Given the description of an element on the screen output the (x, y) to click on. 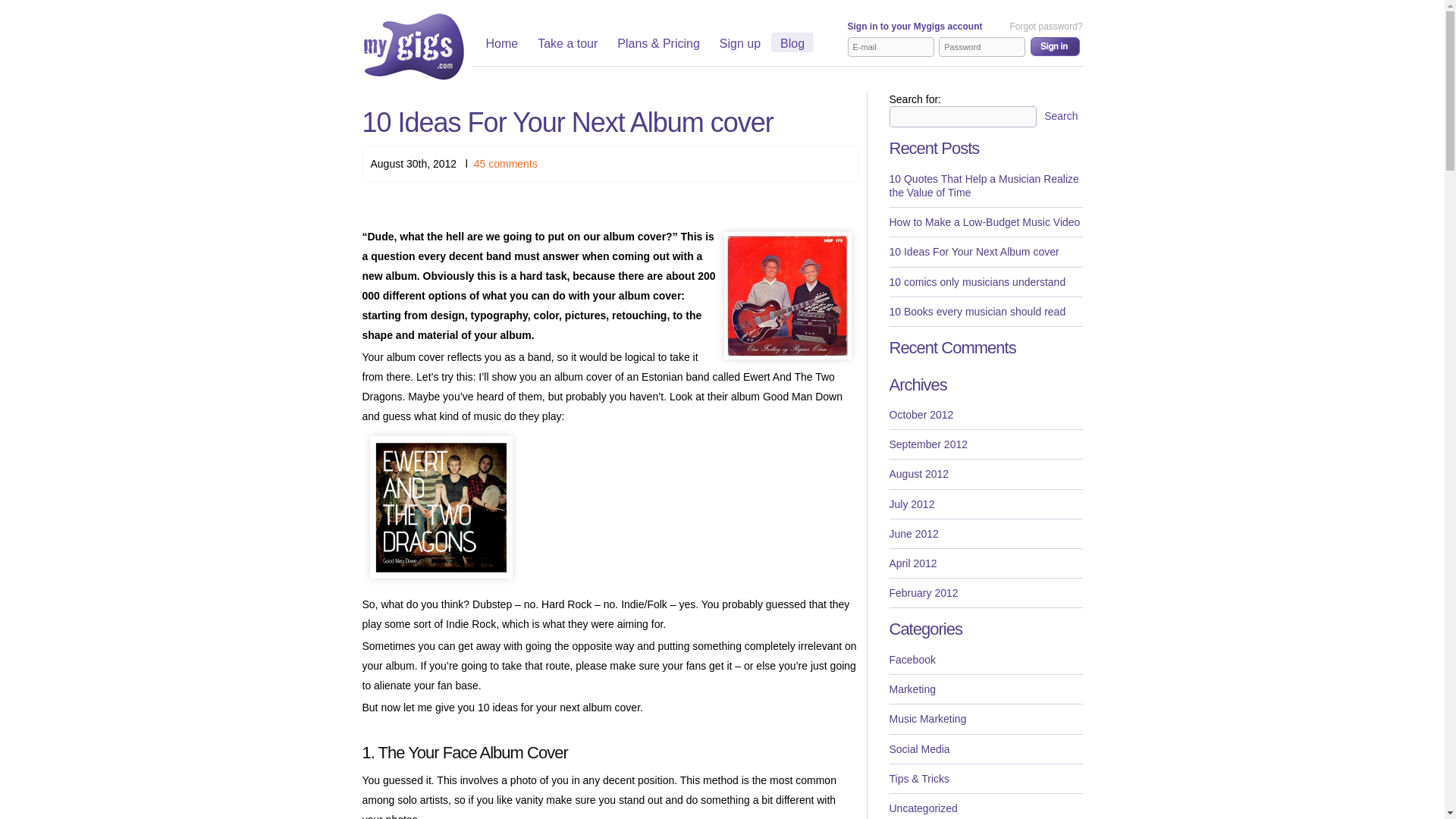
10 Books every musician should read (984, 311)
April 2012 (984, 563)
Marketing (984, 689)
Forgot password? (1045, 26)
August 2012 (984, 473)
Take a tour (567, 45)
Social Media (984, 749)
45 comments (505, 163)
10 Quotes That Help a Musician Realize the Value of Time (984, 186)
How to Make a Low-Budget Music Video (984, 222)
Search (1060, 115)
Ewert And The Two Dragons (440, 506)
Sign up (740, 45)
Blog (792, 45)
10 Ideas For Your Next Album cover (984, 251)
